Given the description of an element on the screen output the (x, y) to click on. 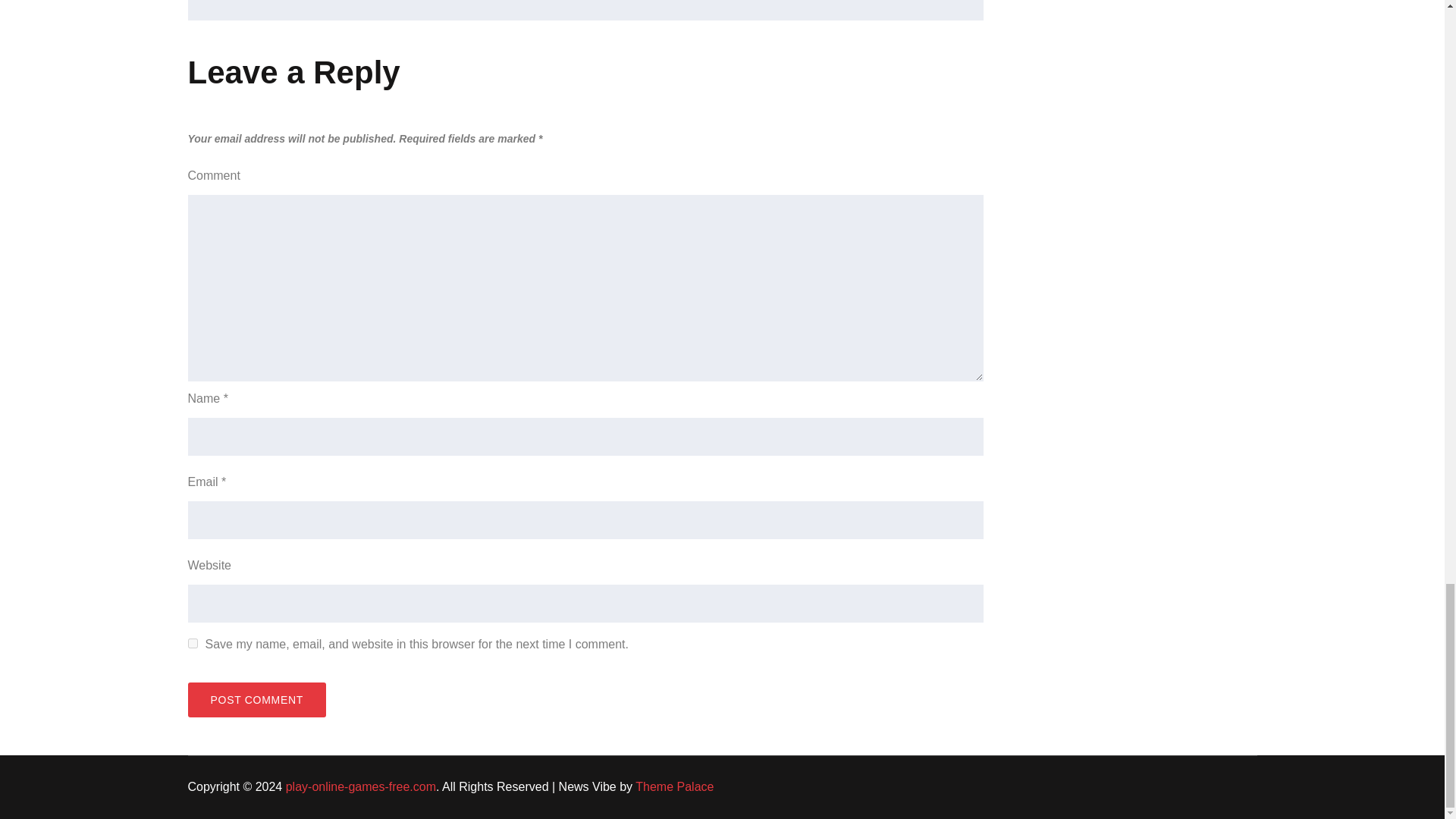
yes (192, 642)
play-online-games-free.com (360, 786)
Post Comment (256, 698)
Theme Palace (673, 786)
Post Comment (256, 698)
